Given the description of an element on the screen output the (x, y) to click on. 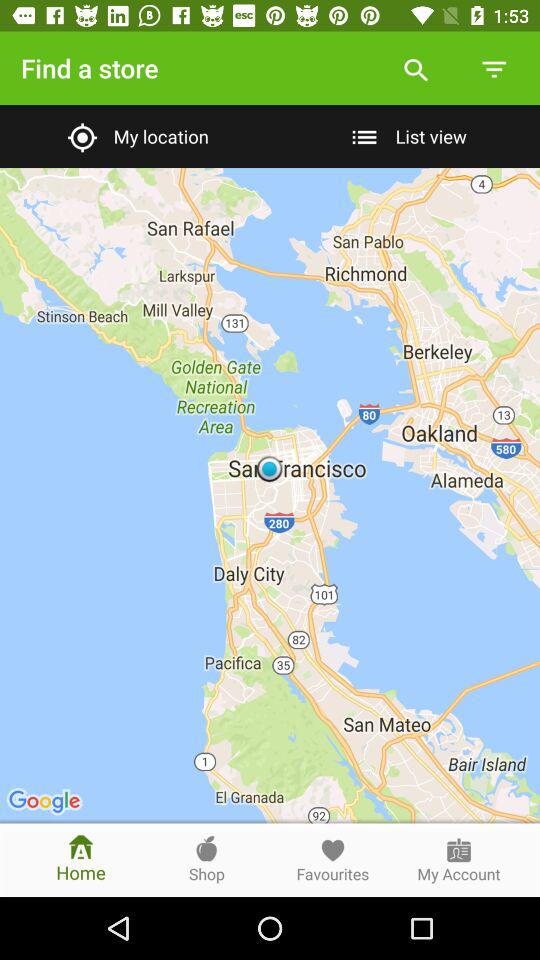
turn on the icon above list view item (493, 68)
